Given the description of an element on the screen output the (x, y) to click on. 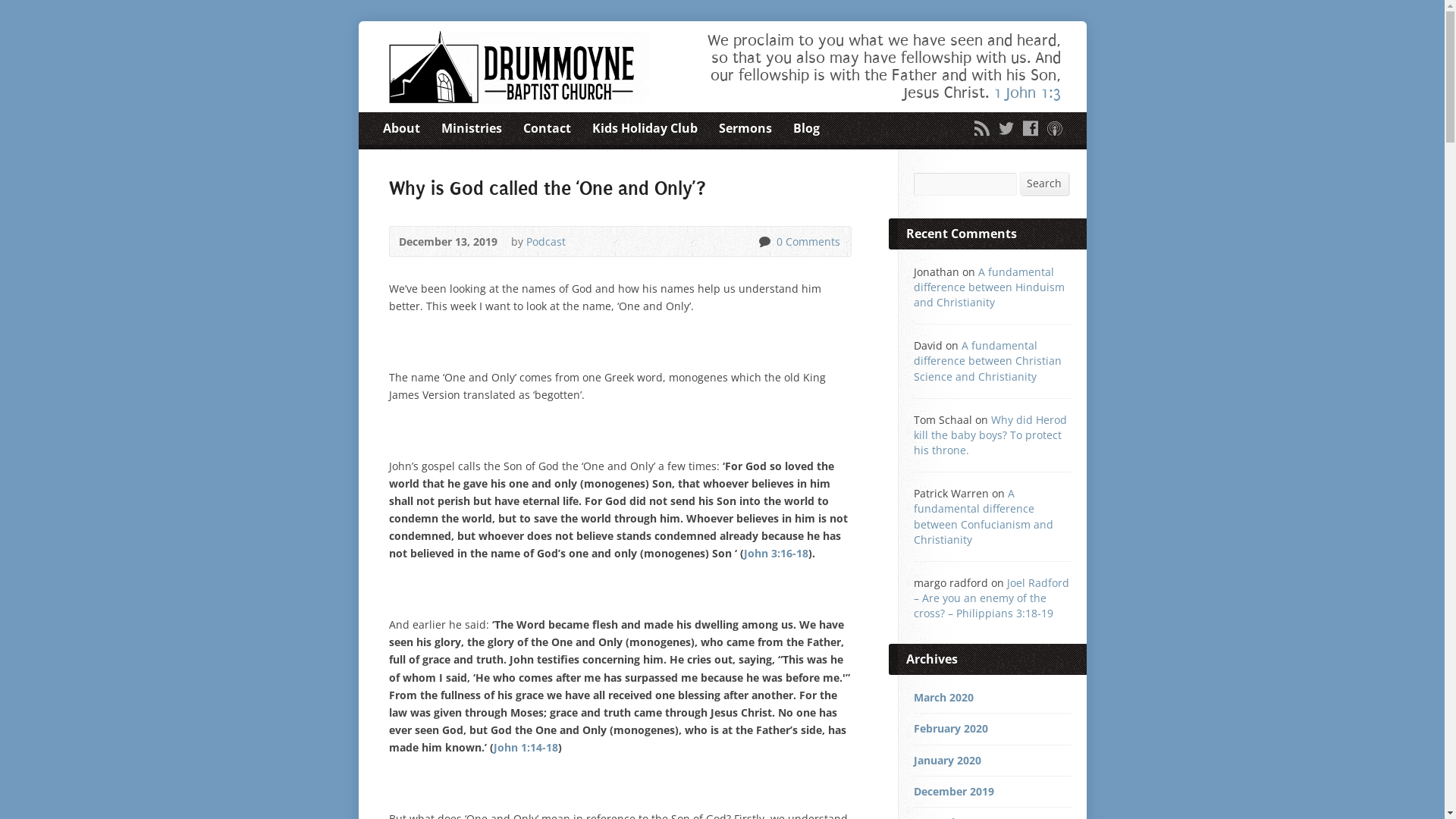
Facebook Element type: hover (1029, 127)
February 2020 Element type: text (950, 728)
John 3:16-18 Element type: text (775, 553)
Search Element type: text (1043, 183)
December 2019 Element type: text (953, 791)
A fundamental difference between Hinduism and Christianity Element type: text (988, 286)
Sermons Element type: text (744, 128)
RSS Element type: hover (980, 127)
Podcast Element type: text (545, 241)
Ministries Element type: text (471, 128)
Podcast Element type: hover (1053, 127)
March 2020 Element type: text (942, 697)
0 Comments Element type: text (763, 241)
January 2020 Element type: text (946, 760)
0 Comments Element type: text (805, 241)
Twitter Element type: hover (1005, 127)
John 1:14-18 Element type: text (524, 747)
About Element type: text (400, 128)
Kids Holiday Club Element type: text (643, 128)
Blog Element type: text (806, 128)
Why did Herod kill the baby boys? To protect his throne. Element type: text (989, 434)
Contact Element type: text (547, 128)
1 John 1:3 Element type: text (1026, 92)
